Given the description of an element on the screen output the (x, y) to click on. 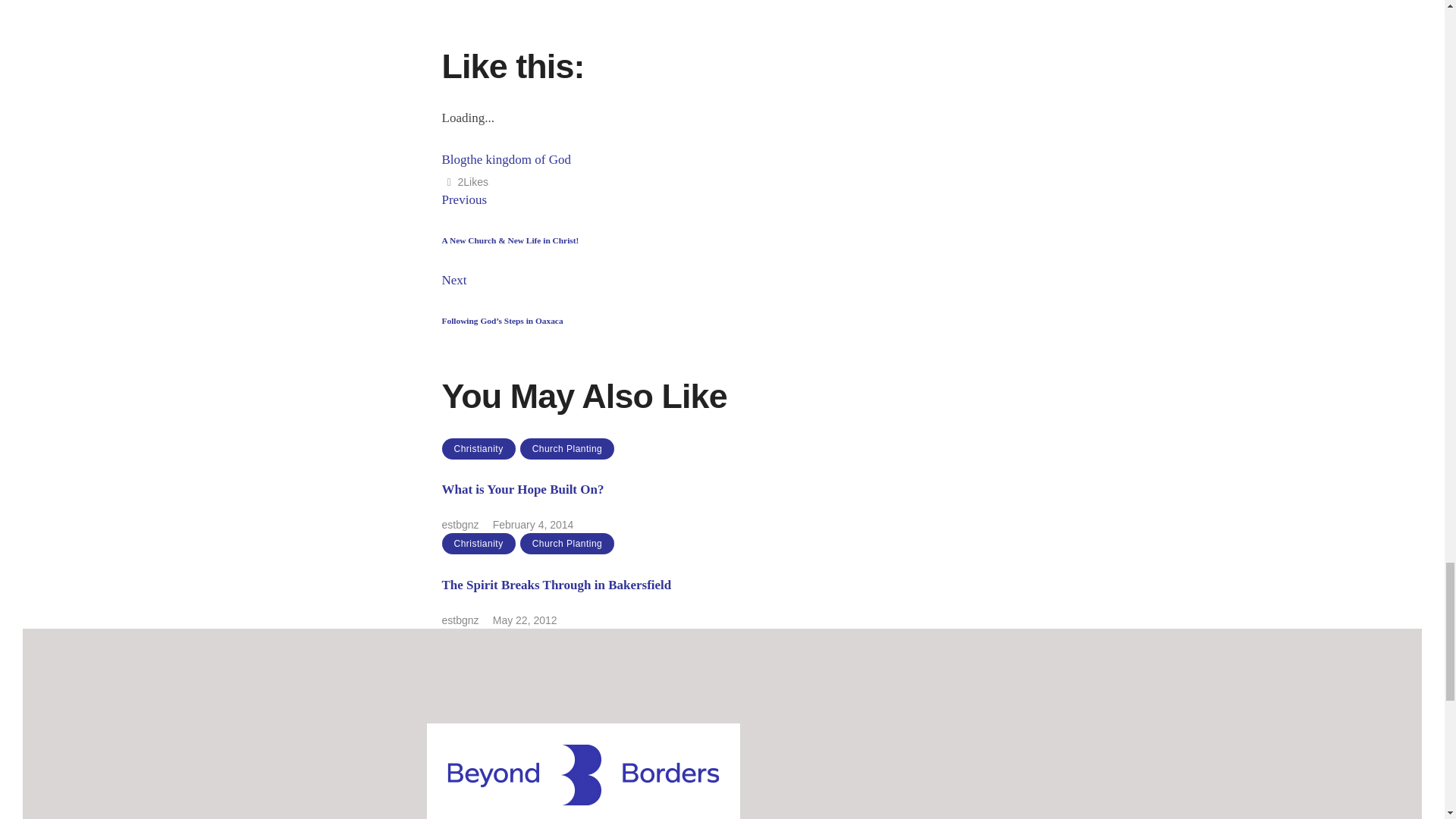
the kingdom of God (518, 159)
View all posts in Church Planting (566, 448)
View all posts in Christianity (478, 543)
View all posts in Church Planting (566, 543)
Like (464, 182)
Blog (453, 159)
View all posts in Christianity (478, 448)
